Given the description of an element on the screen output the (x, y) to click on. 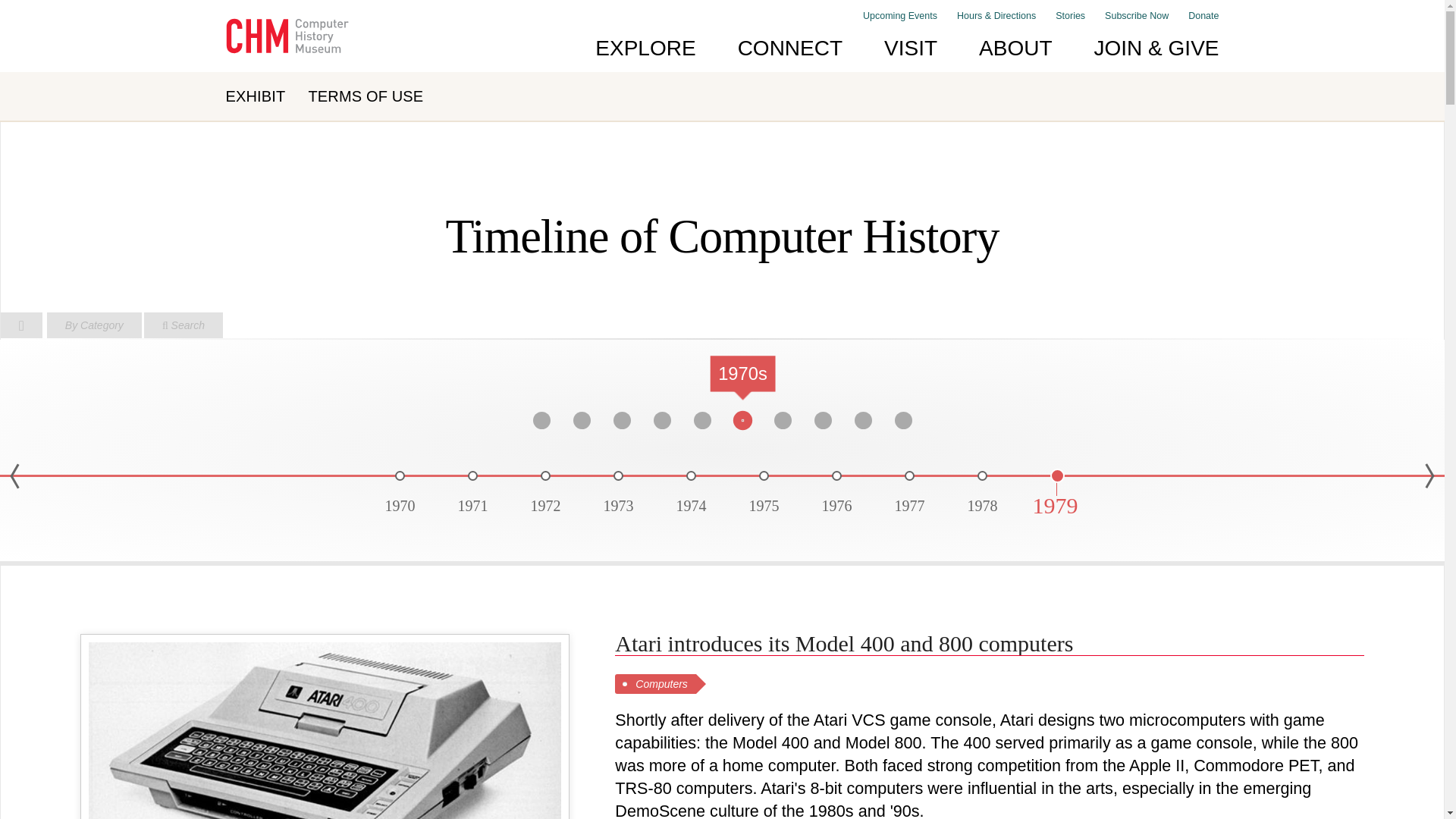
Home (21, 318)
CONNECT (790, 47)
Category Highlights (93, 325)
Search Exhibit (183, 325)
Stories (1069, 15)
VISIT (910, 47)
Subscribe Now (1137, 15)
ABOUT (1014, 47)
EXPLORE (645, 47)
Upcoming Events (900, 15)
